Given the description of an element on the screen output the (x, y) to click on. 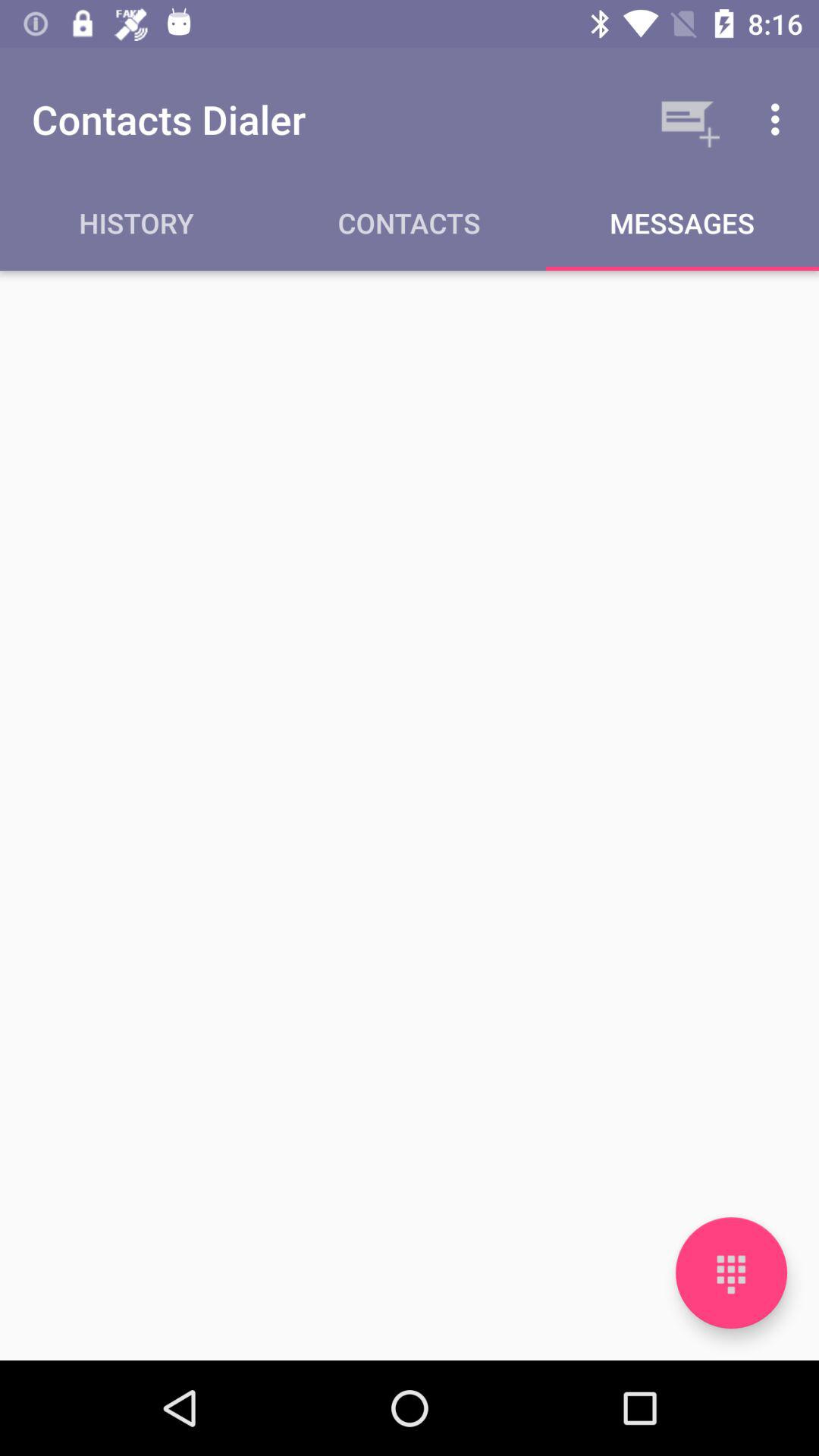
open item at the center (409, 815)
